Given the description of an element on the screen output the (x, y) to click on. 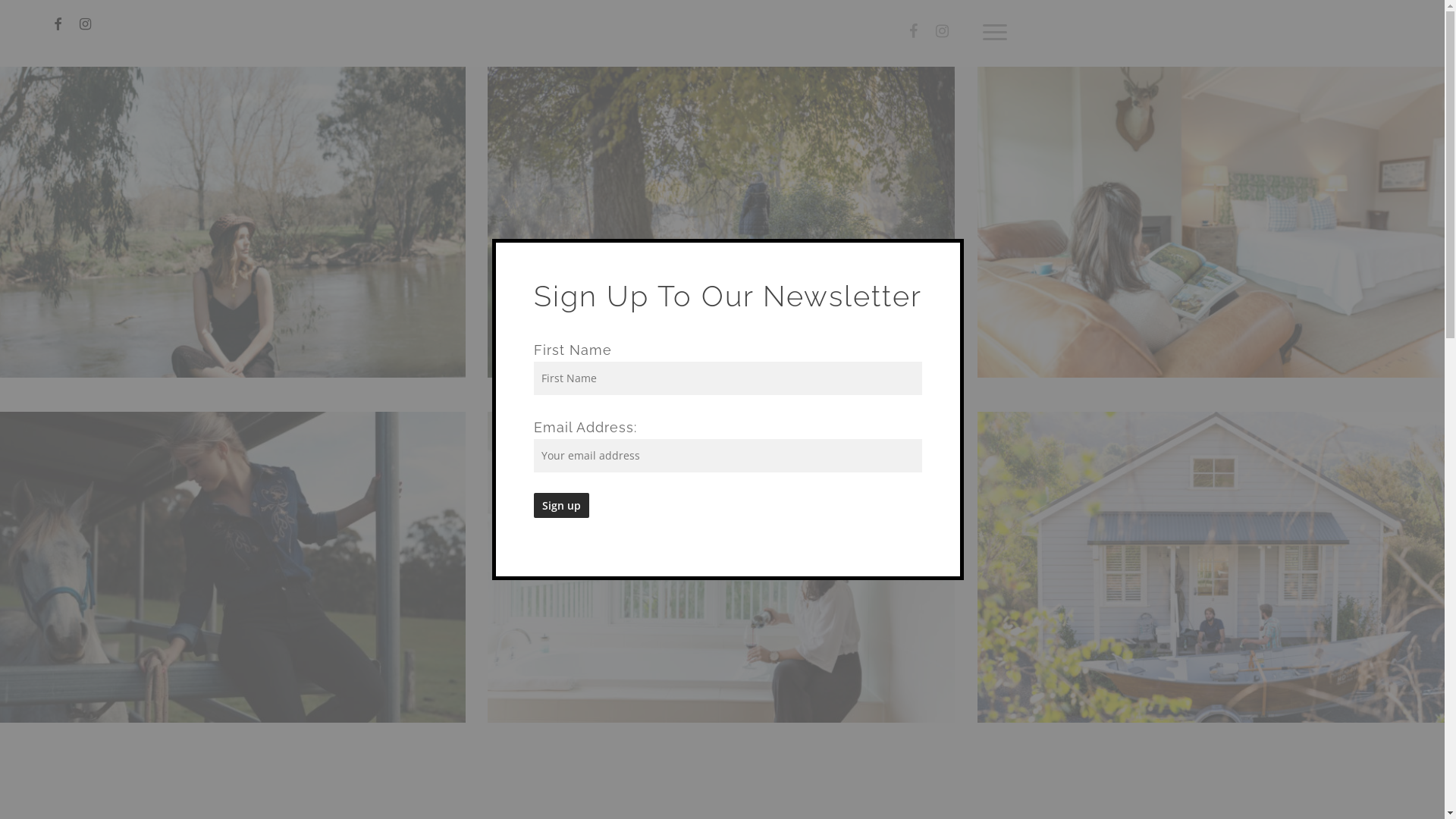
Nimbo-35 Element type: hover (720, 221)
NimboForkLodge_RCP_July2021-112 Element type: hover (720, 566)
Instagram Element type: text (942, 31)
NimboForkLodge_RCP_July2021-128 Element type: hover (1210, 221)
Close Element type: hover (945, 248)
Sign up Element type: text (561, 504)
Menu Element type: text (995, 31)
Facebook Element type: text (913, 31)
Nimbo Aussie Fly Fisher-07890 Element type: hover (1210, 566)
